Given the description of an element on the screen output the (x, y) to click on. 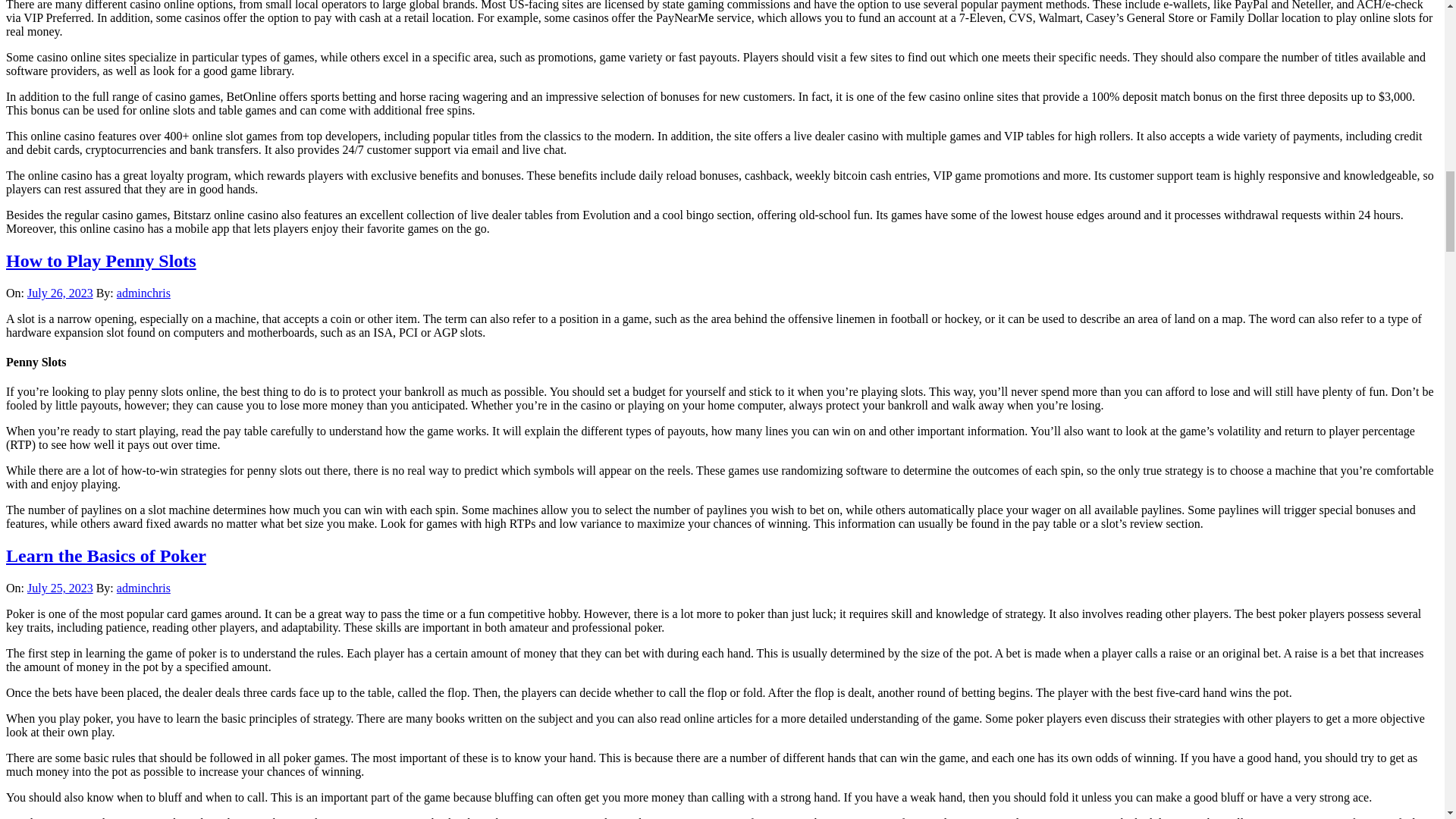
adminchris (143, 292)
Learn the Basics of Poker (105, 555)
adminchris (143, 587)
July 25, 2023 (60, 587)
July 26, 2023 (60, 292)
How to Play Penny Slots (100, 260)
